Given the description of an element on the screen output the (x, y) to click on. 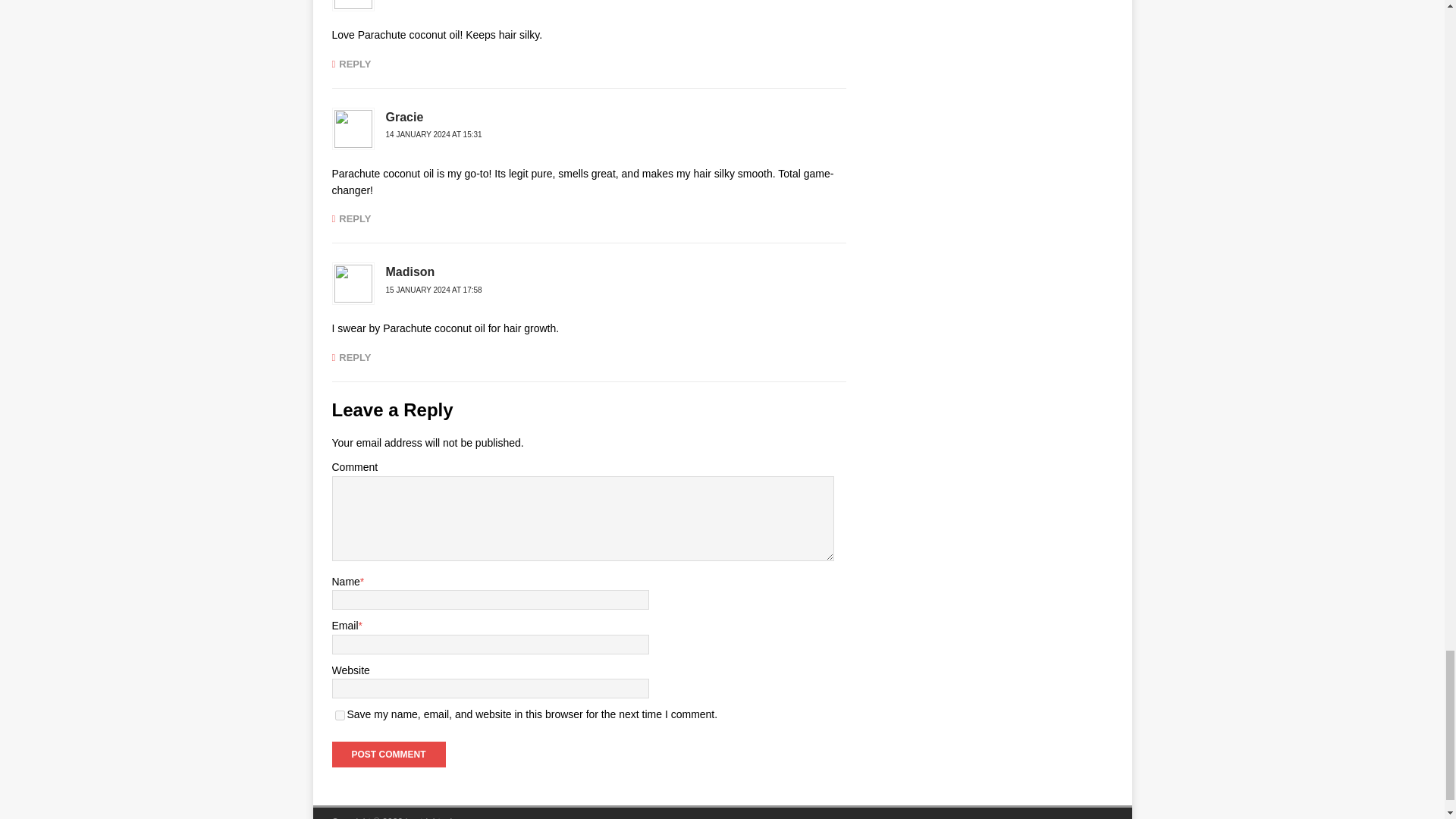
REPLY (351, 218)
15 JANUARY 2024 AT 17:58 (433, 289)
yes (339, 715)
Post Comment (388, 754)
14 JANUARY 2024 AT 15:31 (433, 134)
REPLY (351, 357)
Post Comment (388, 754)
REPLY (351, 63)
